Given the description of an element on the screen output the (x, y) to click on. 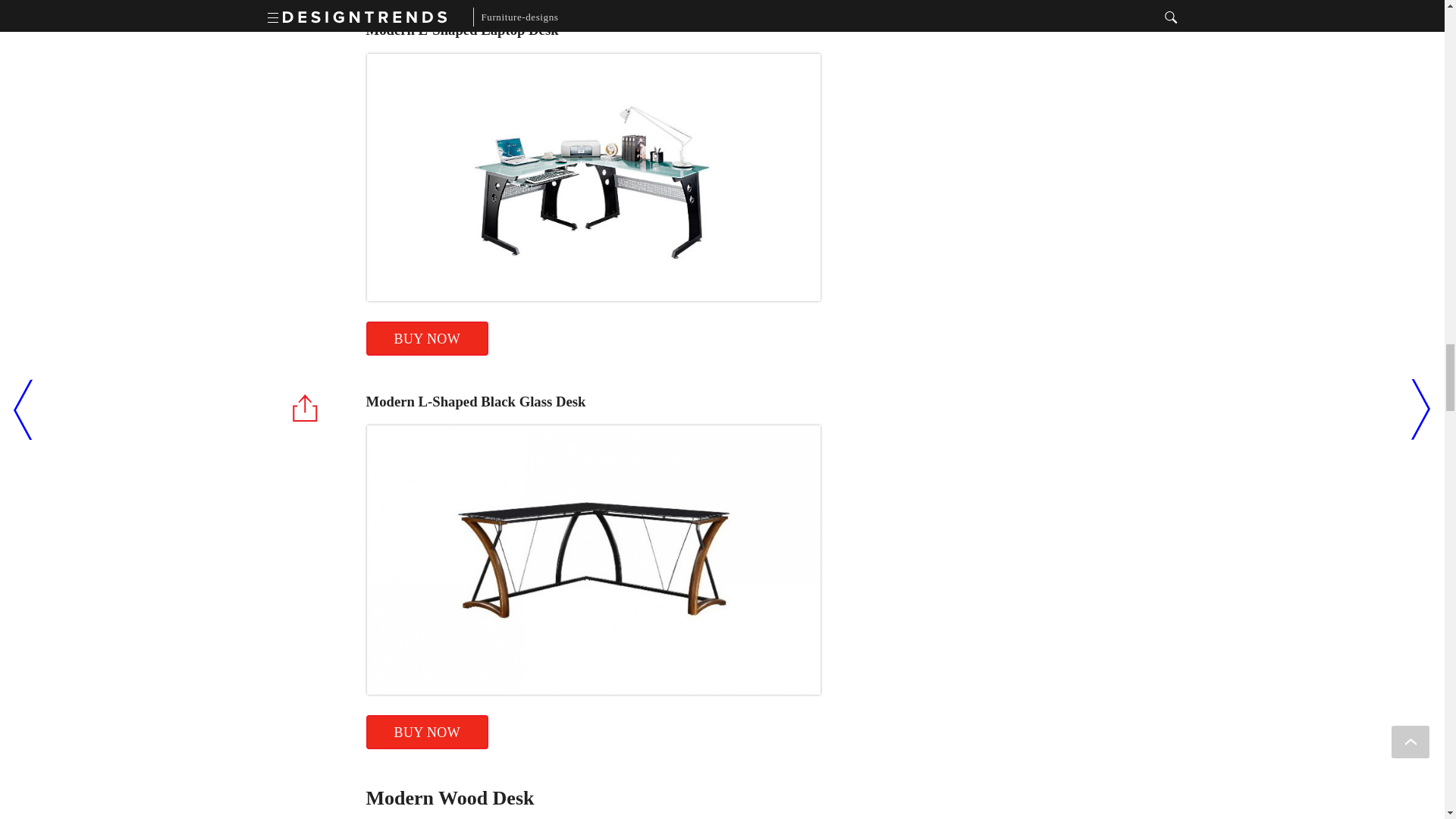
BUY NOW (426, 731)
Home office Desk Designs (608, 2)
BUY NOW (426, 338)
